Given the description of an element on the screen output the (x, y) to click on. 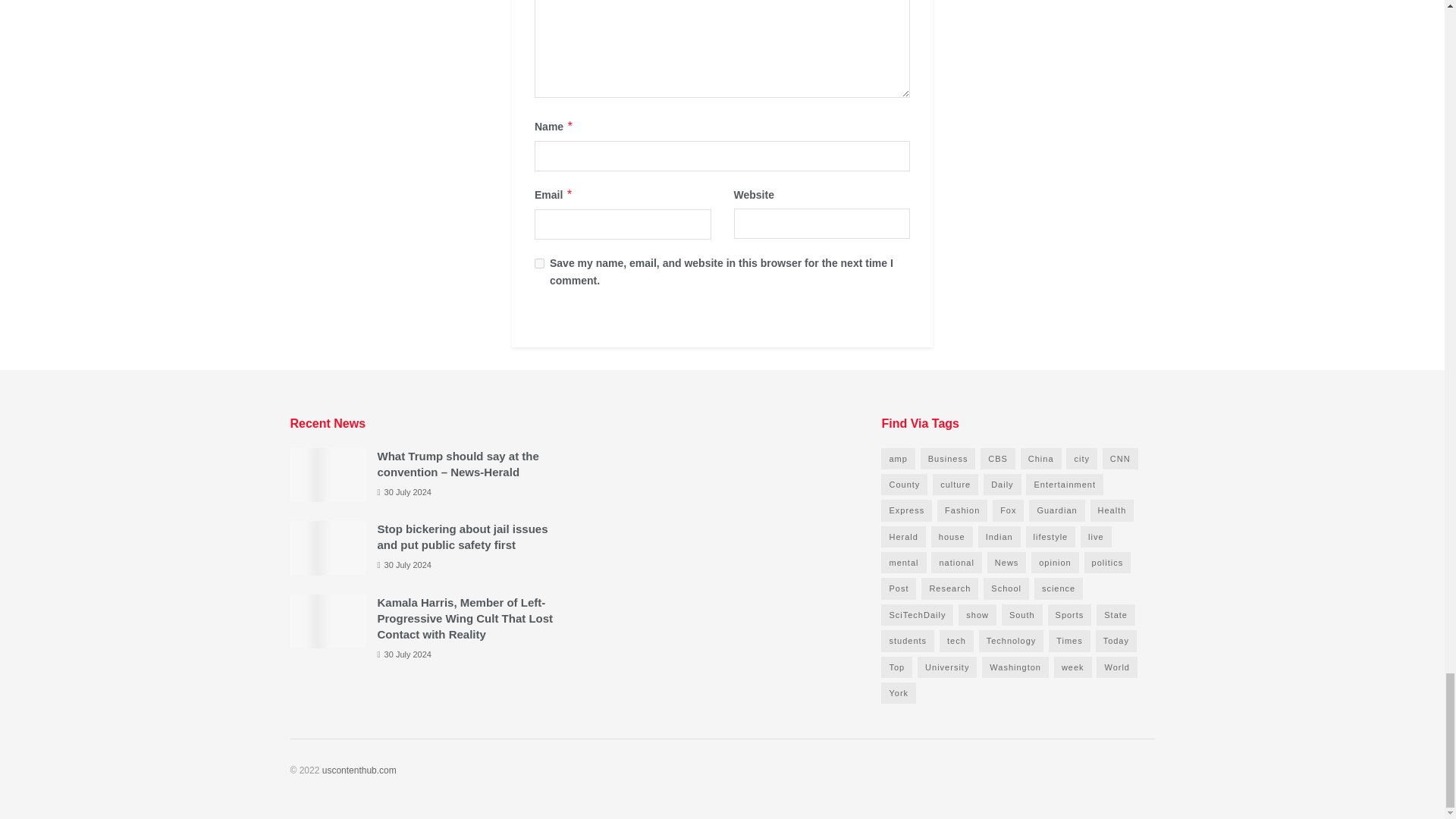
Premium news  (358, 769)
yes (539, 263)
